Given the description of an element on the screen output the (x, y) to click on. 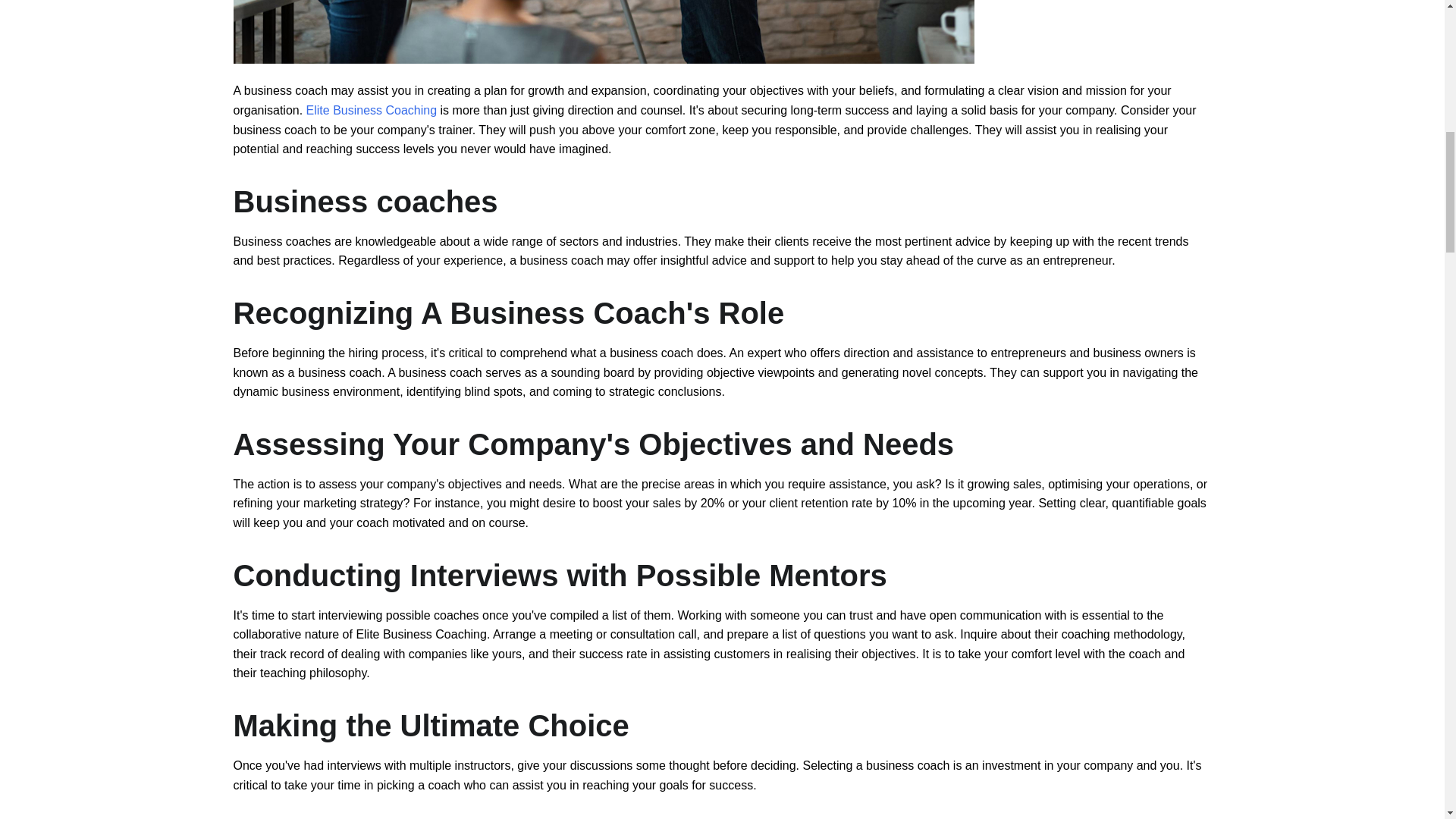
Elite Business Coaching (371, 110)
